Given the description of an element on the screen output the (x, y) to click on. 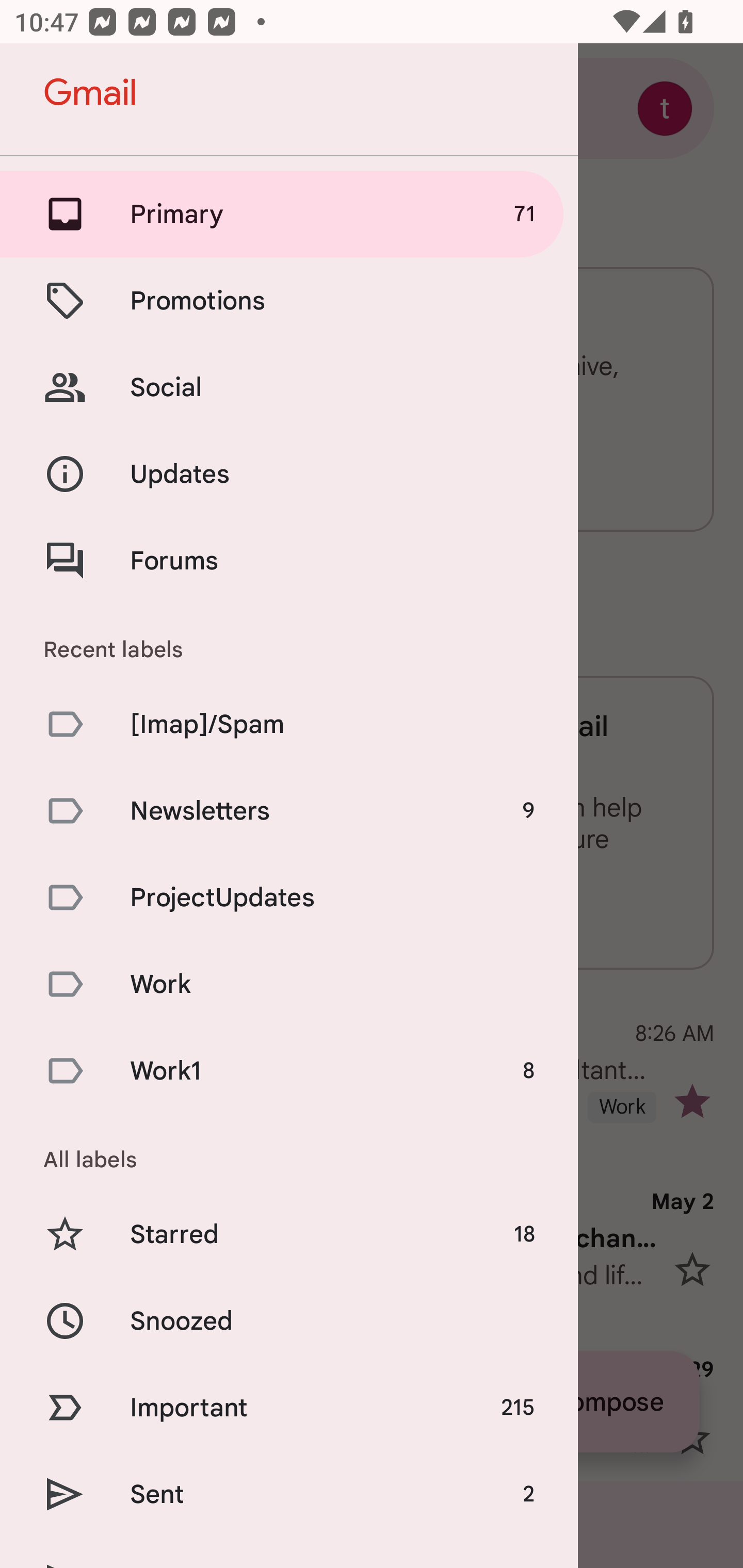
Primary 71 (289, 213)
Promotions (289, 300)
Social (289, 387)
Updates (289, 474)
Forums (289, 560)
[Imap]/Spam (289, 723)
Newsletters 9 (289, 810)
ProjectUpdates (289, 897)
Work (289, 983)
Work1 8 (289, 1070)
Starred 18 (289, 1234)
Snoozed (289, 1320)
Important 215 (289, 1407)
Sent 2 (289, 1494)
